Given the description of an element on the screen output the (x, y) to click on. 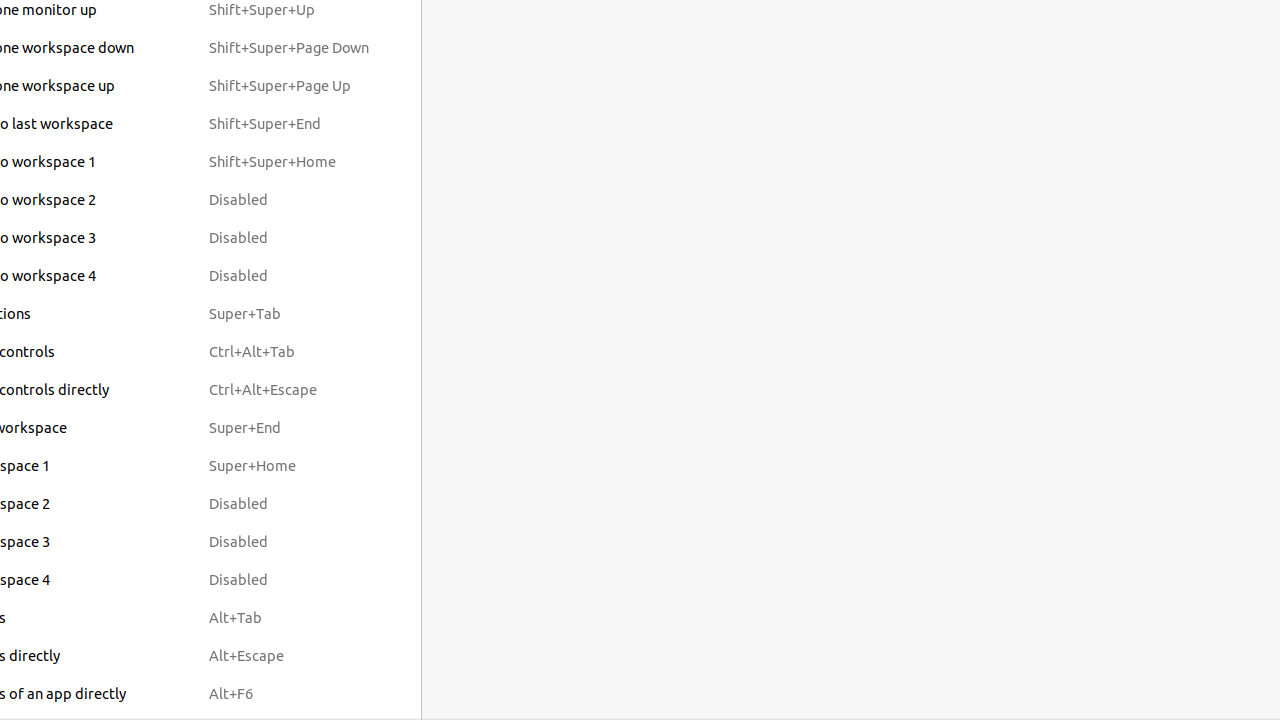
Shift+Super+End Element type: label (289, 124)
Super+Tab Element type: label (289, 314)
